Given the description of an element on the screen output the (x, y) to click on. 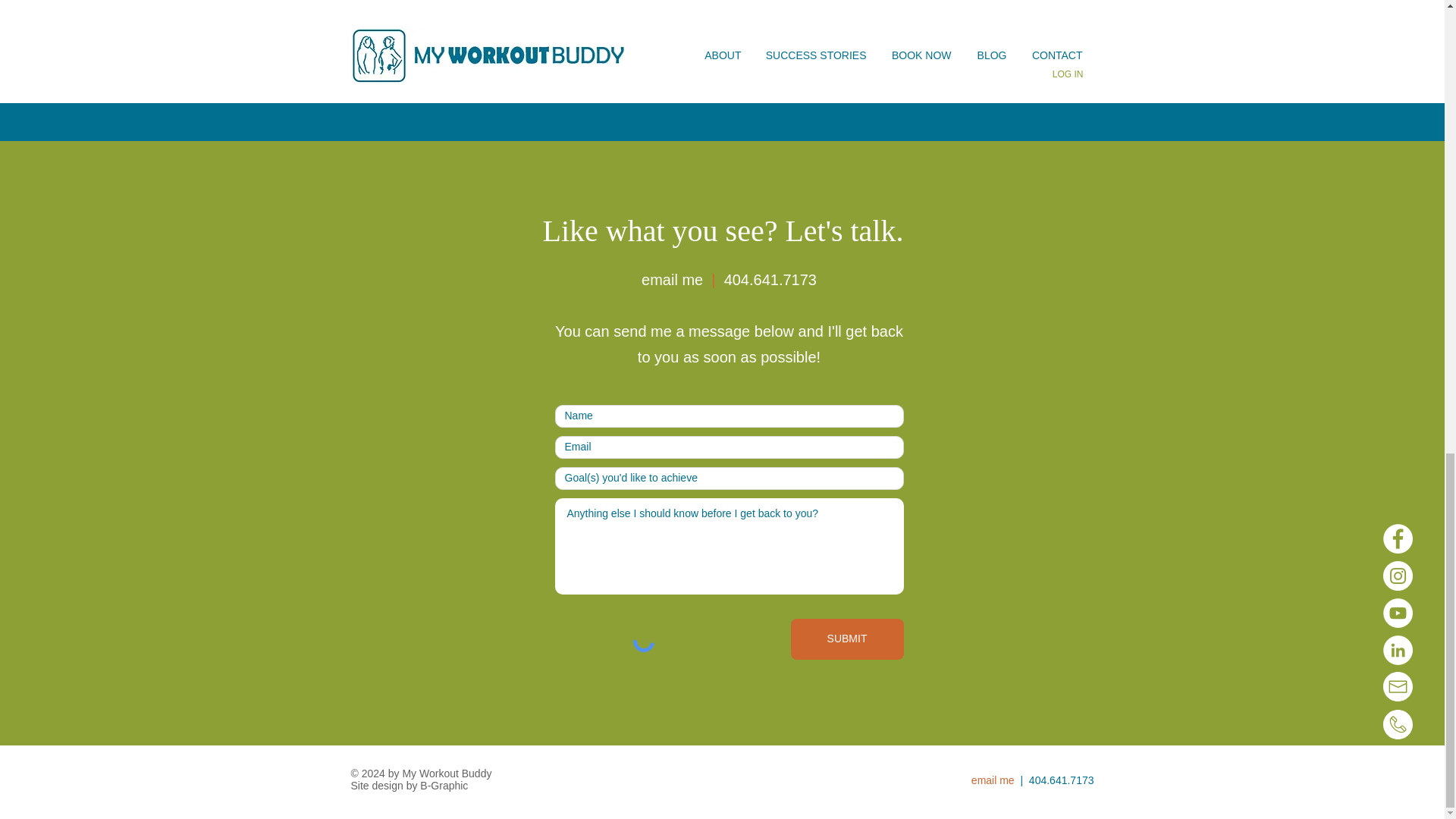
SUBMIT (846, 639)
email me (992, 779)
email me (672, 279)
404.641.7173 (1061, 779)
404.641.7173 (769, 279)
B-Graphic (443, 785)
